Given the description of an element on the screen output the (x, y) to click on. 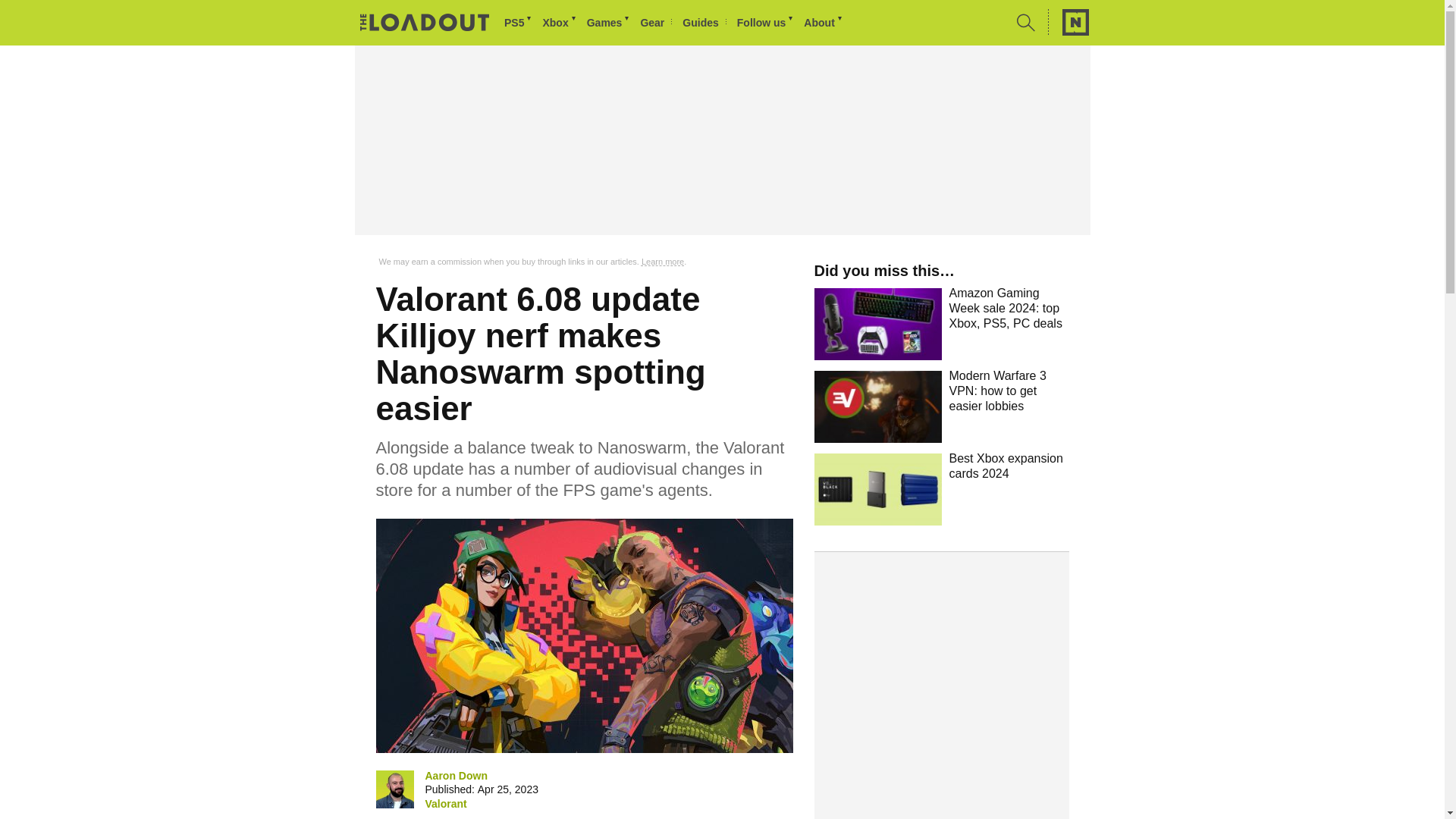
Games (608, 22)
Follow The Loadout (765, 22)
The Loadout (424, 24)
Follow us (765, 22)
Learn more (663, 261)
Guides (704, 22)
Aaron Down (455, 775)
Aaron Down (394, 789)
Game Guides (704, 22)
